Given the description of an element on the screen output the (x, y) to click on. 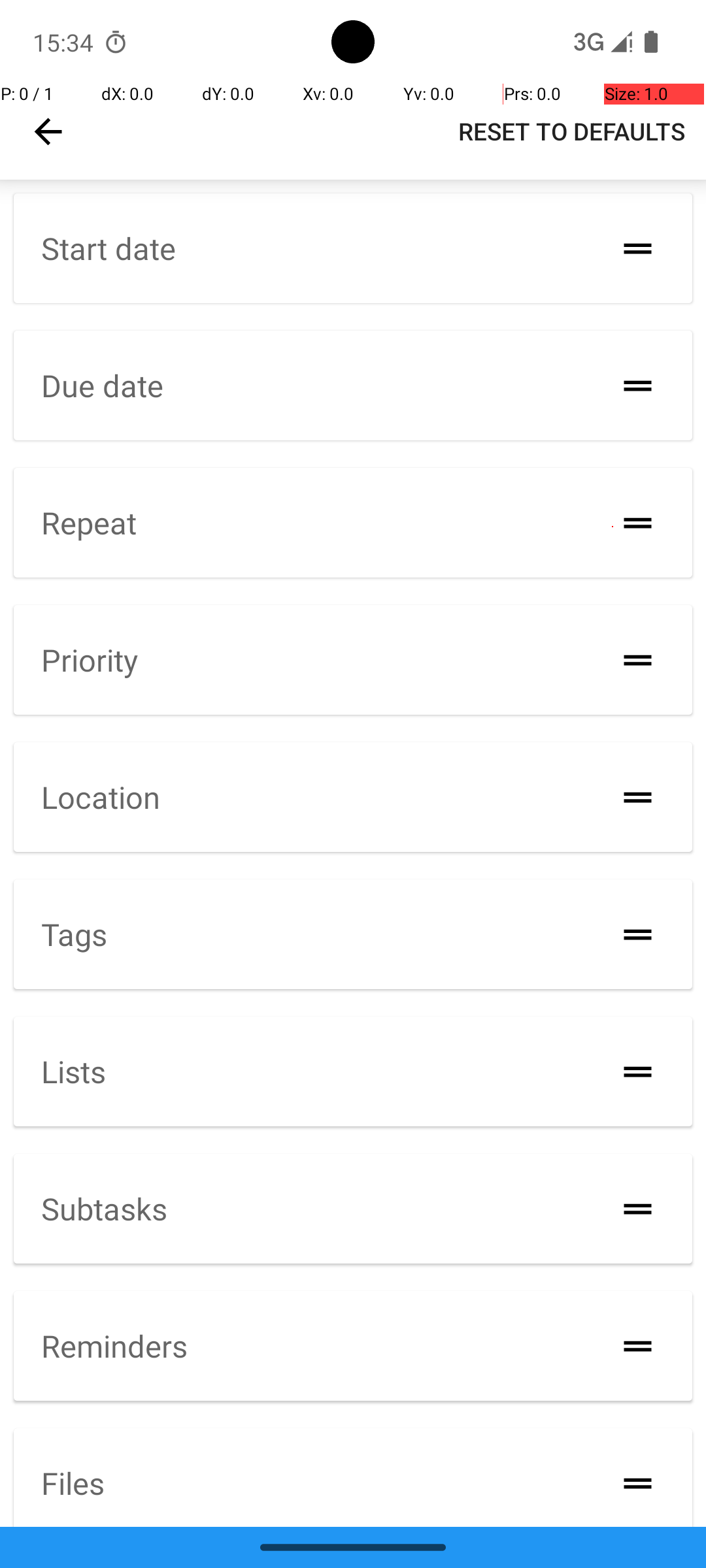
RESET TO DEFAULTS Element type: android.widget.Button (571, 131)
Start date Element type: android.widget.TextView (108, 247)
Lists Element type: android.widget.TextView (73, 1070)
Reminders Element type: android.widget.TextView (114, 1345)
